Given the description of an element on the screen output the (x, y) to click on. 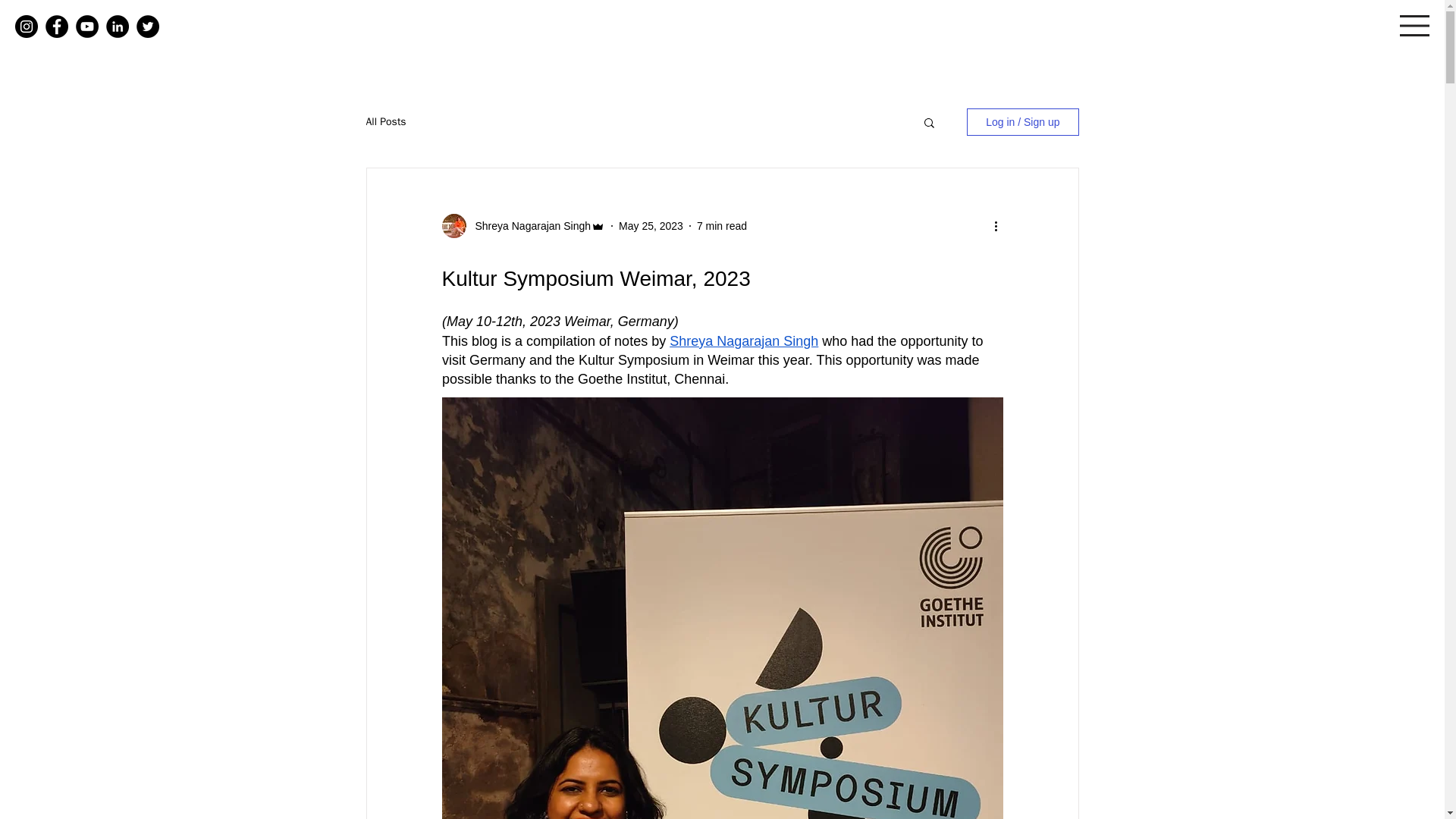
May 25, 2023 (650, 225)
Shreya Nagarajan Singh (743, 340)
All Posts (385, 121)
Shreya Nagarajan Singh (528, 226)
7 min read (721, 225)
